Given the description of an element on the screen output the (x, y) to click on. 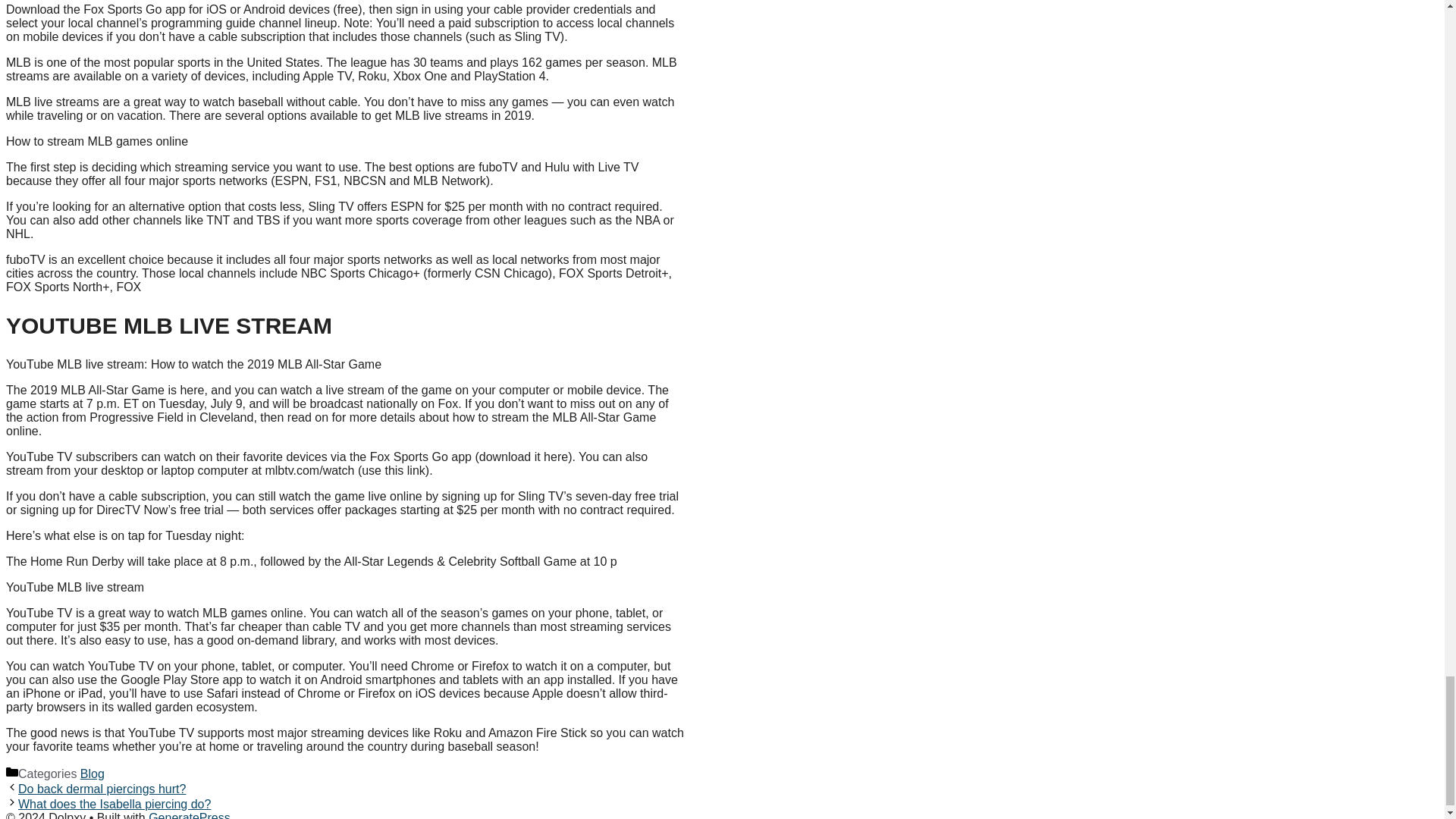
Do back dermal piercings hurt? (101, 788)
Blog (92, 773)
What does the Isabella piercing do? (114, 803)
